Given the description of an element on the screen output the (x, y) to click on. 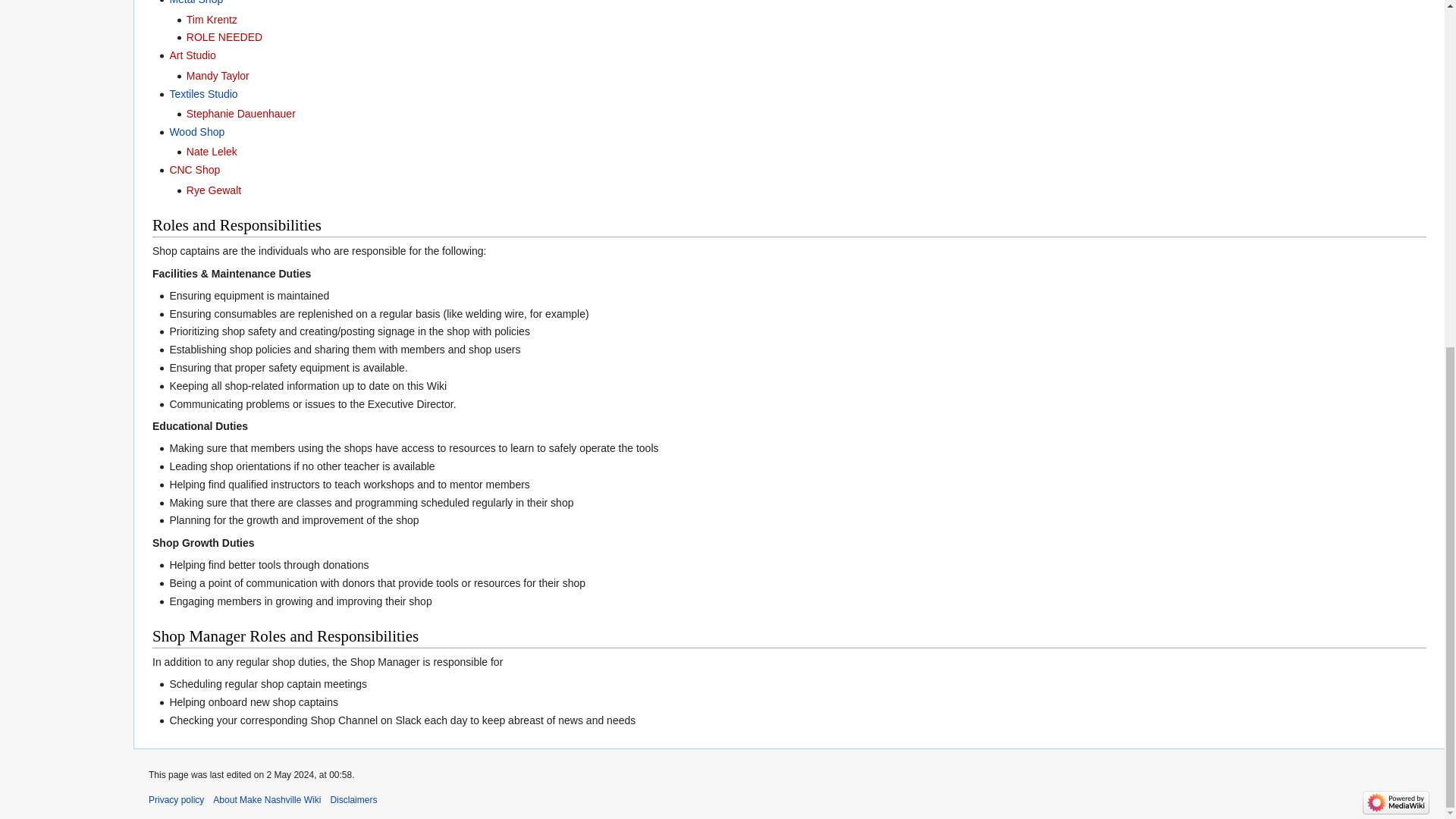
Tim Krentz (211, 19)
Mandy Taylor (217, 75)
Wood Shop (196, 132)
Textiles Studio (202, 93)
Metal Shop (195, 2)
Nate Lelek (211, 151)
ROLE NEEDED (224, 37)
Rye Gewalt (213, 190)
Stephanie Dauenhauer (240, 113)
Metal Shop (195, 2)
